Given the description of an element on the screen output the (x, y) to click on. 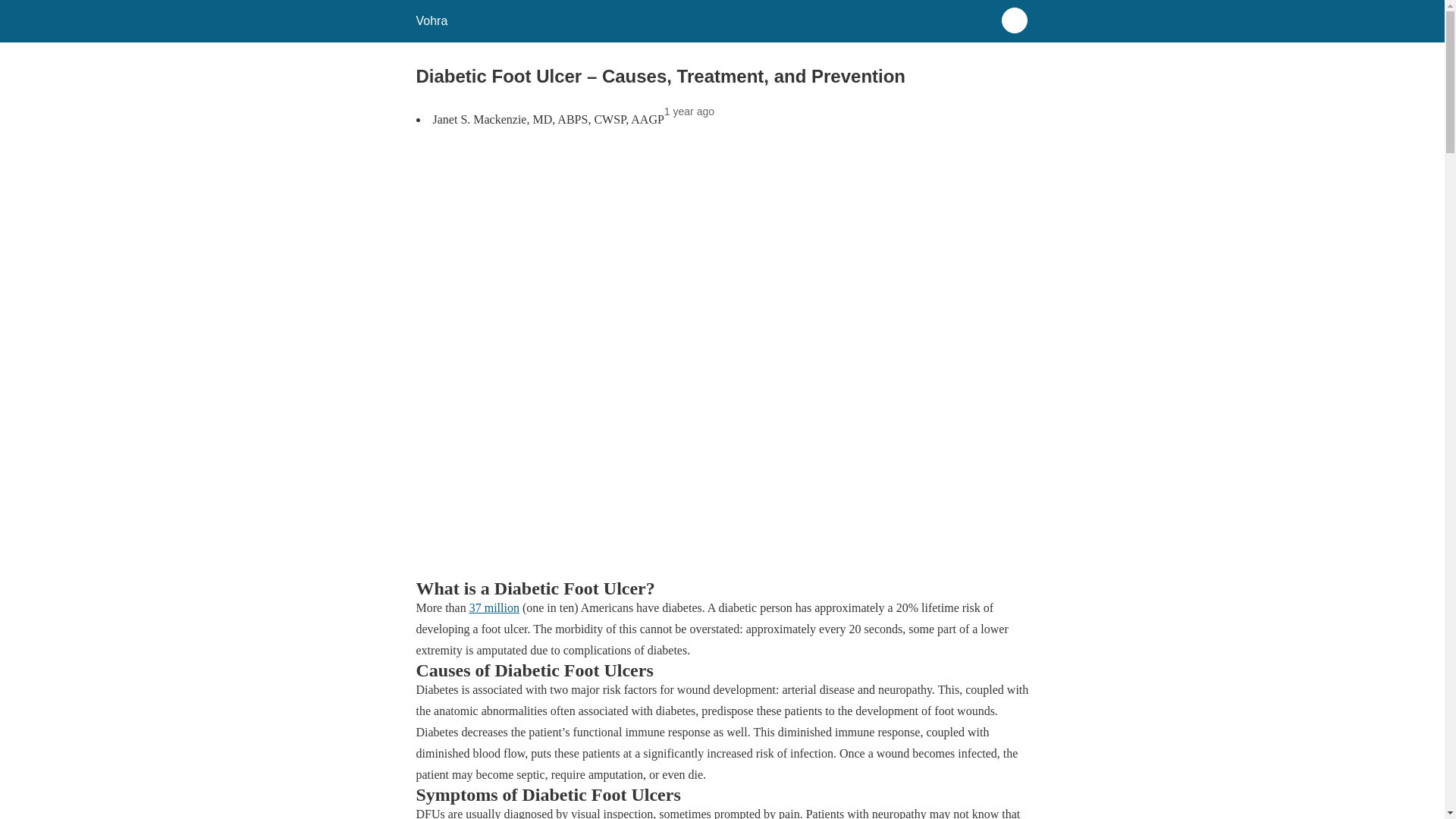
Vohra (430, 20)
37 million (493, 607)
